Given the description of an element on the screen output the (x, y) to click on. 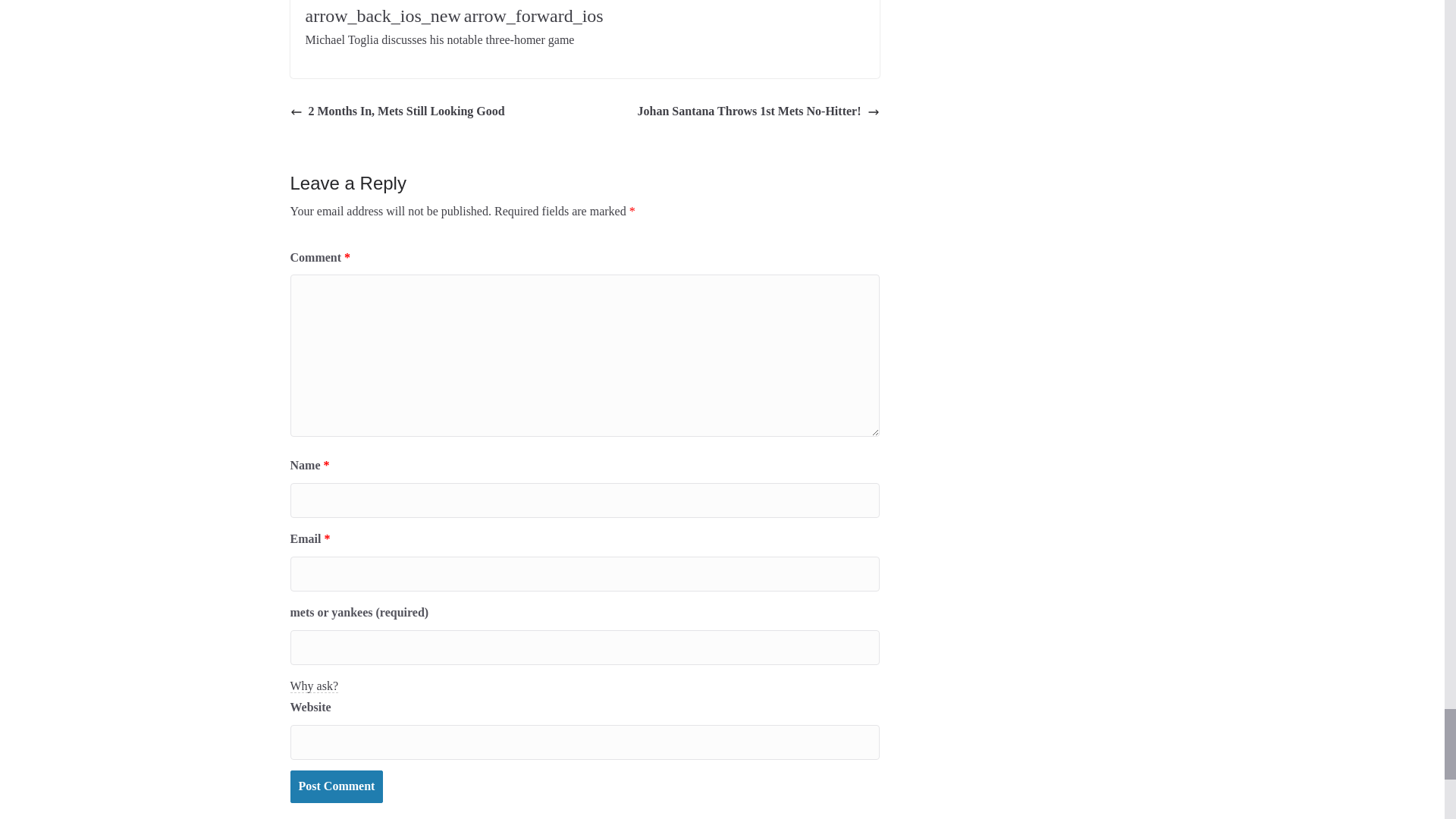
Post Comment (335, 786)
